Given the description of an element on the screen output the (x, y) to click on. 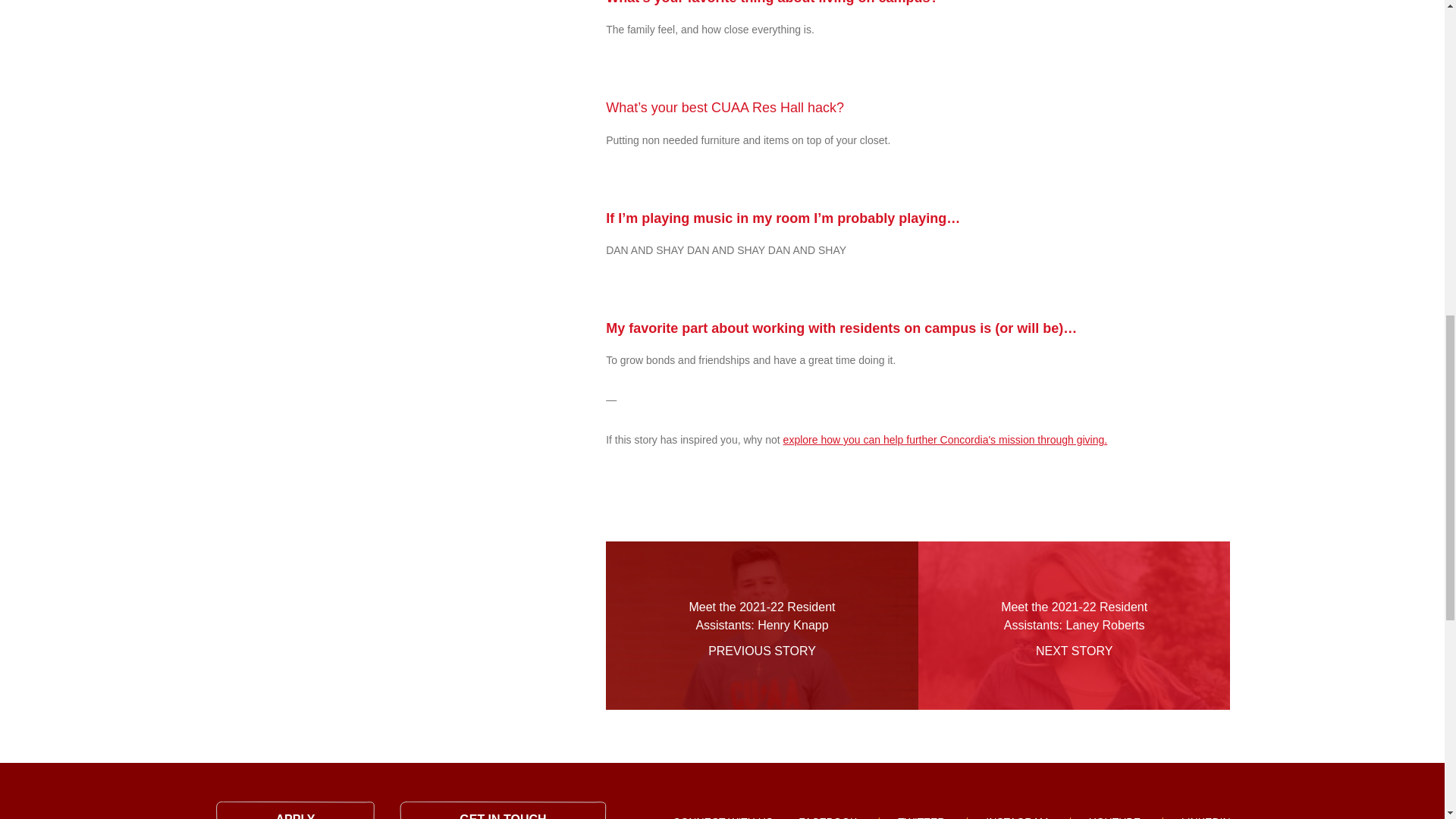
APPLY (294, 809)
